Given the description of an element on the screen output the (x, y) to click on. 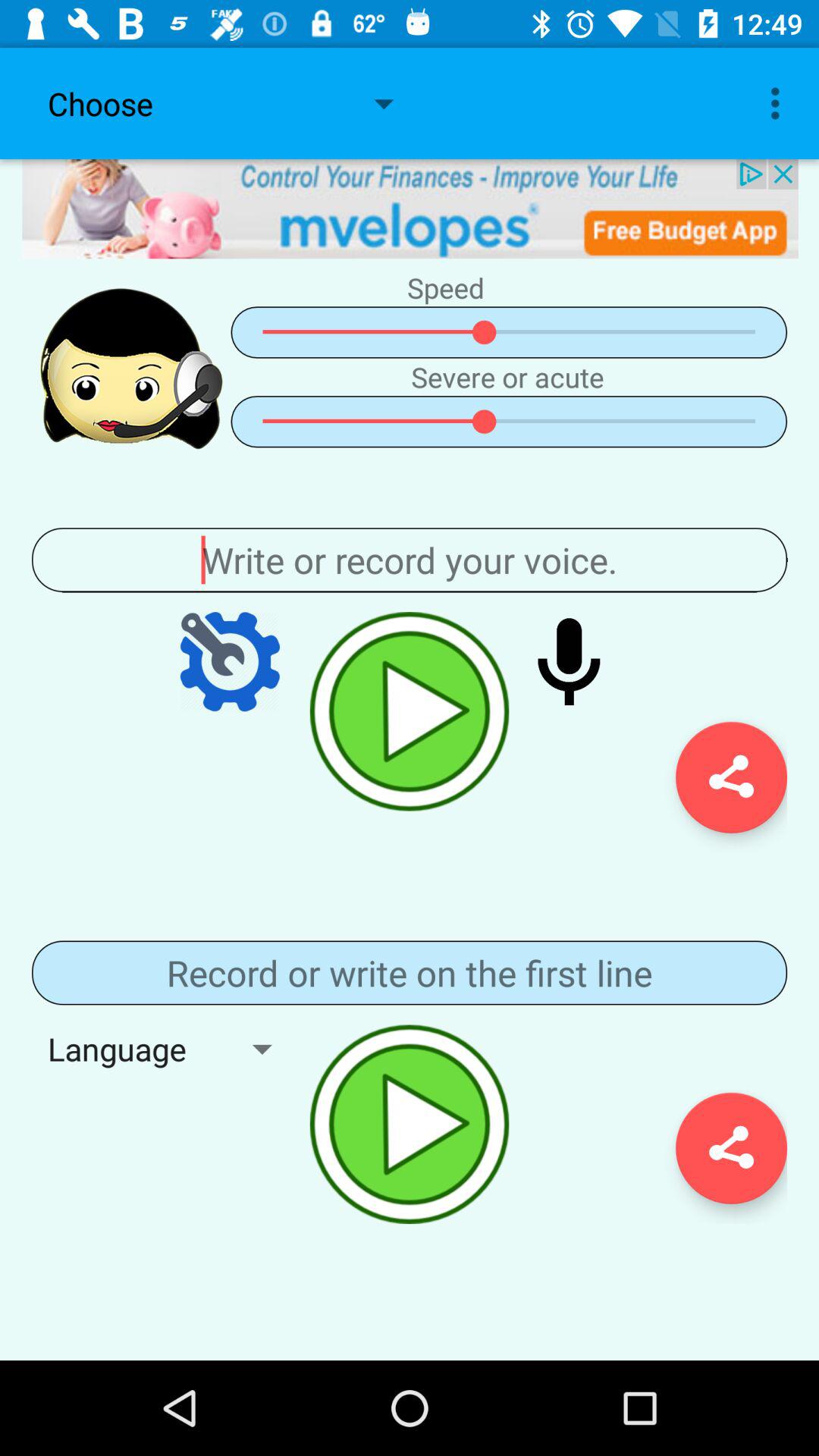
record icon (568, 661)
